Given the description of an element on the screen output the (x, y) to click on. 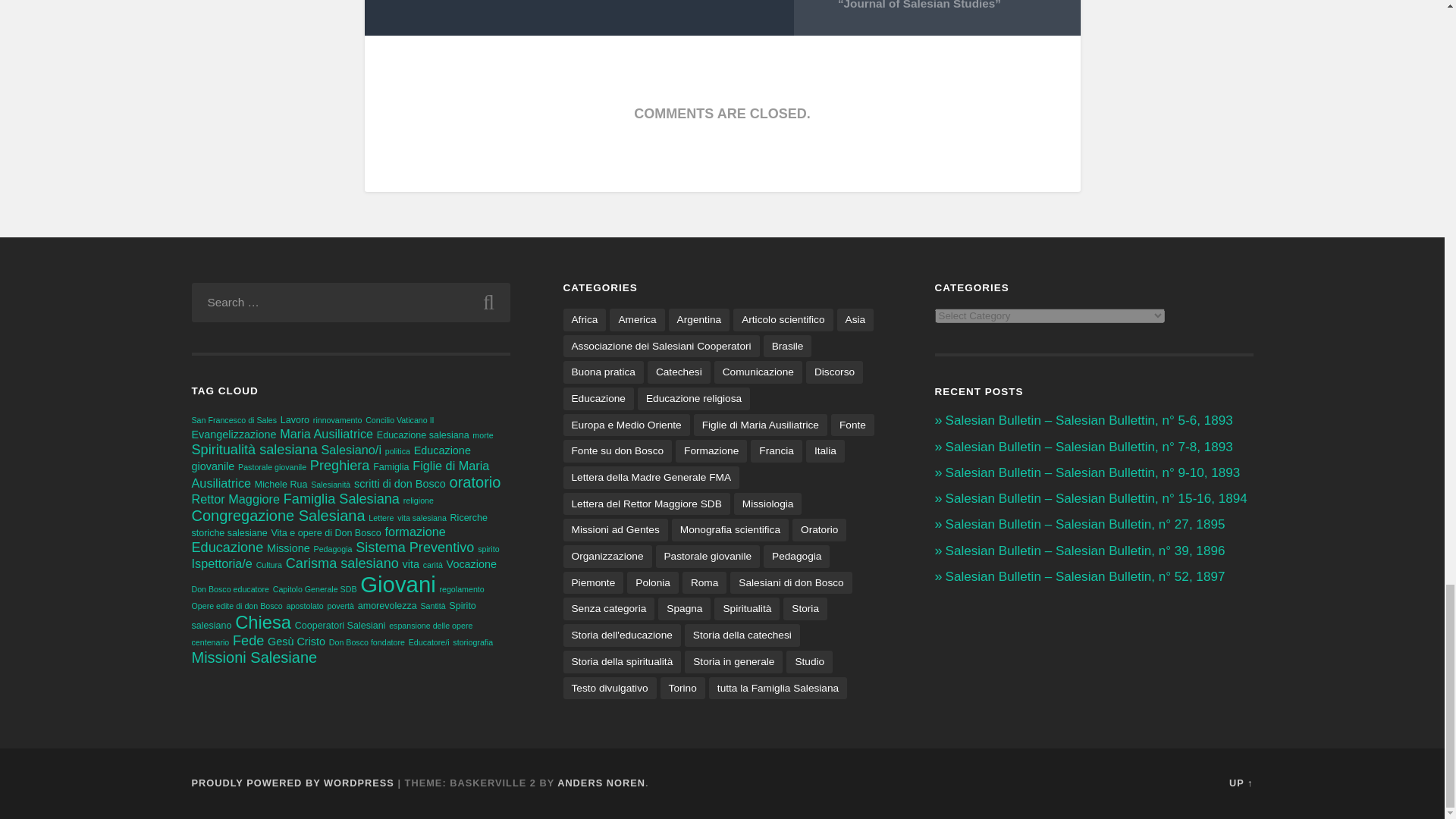
423 topics (253, 449)
252 topics (294, 419)
188 topics (482, 434)
354 topics (325, 433)
Search (488, 302)
372 topics (351, 449)
288 topics (330, 458)
329 topics (233, 434)
167 topics (397, 450)
203 topics (271, 466)
184 topics (337, 420)
199 topics (399, 420)
Search (488, 302)
157 topics (233, 420)
270 topics (422, 434)
